Given the description of an element on the screen output the (x, y) to click on. 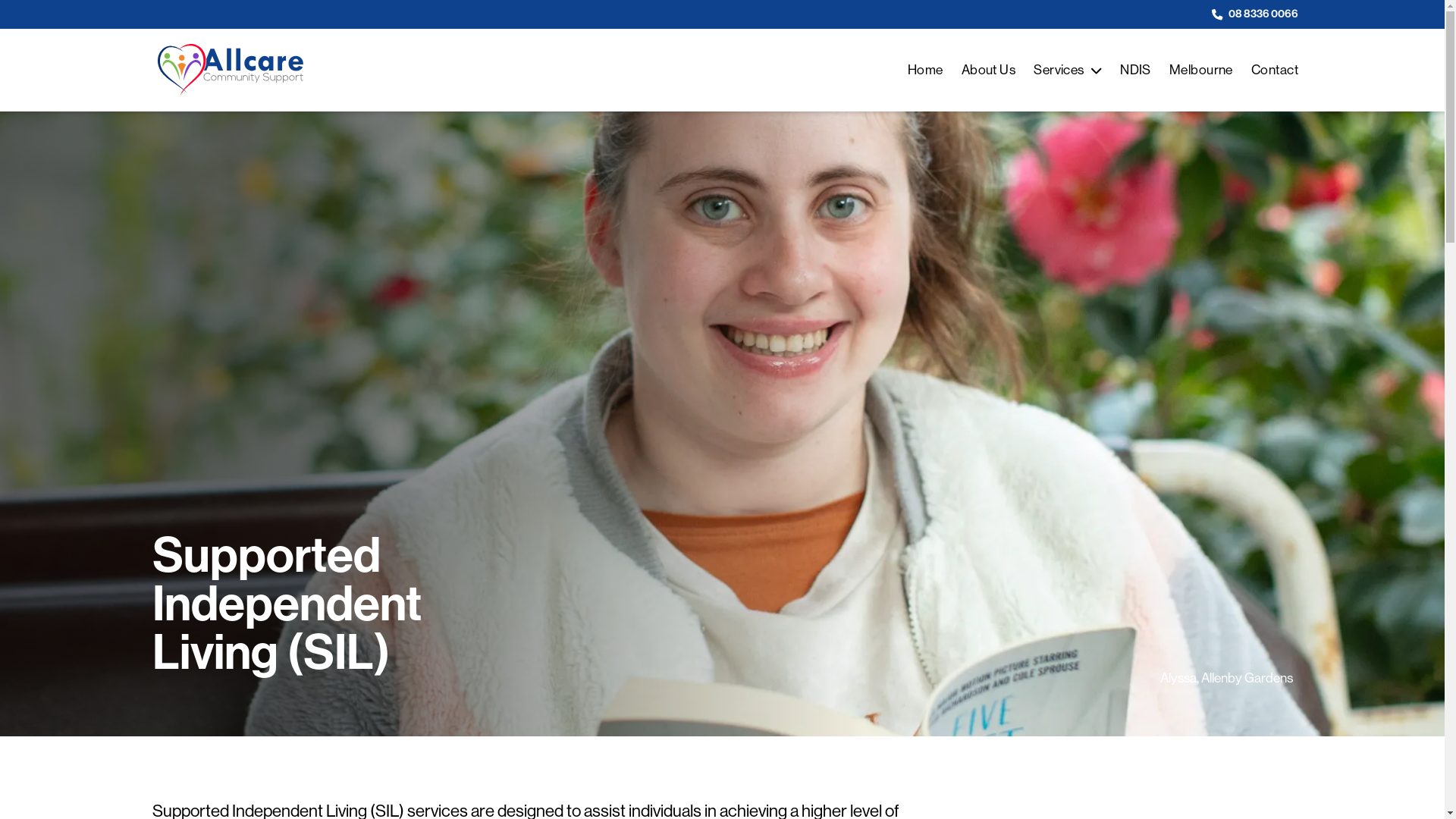
Melbourne Element type: text (1201, 69)
08 8336 0066 Element type: text (1254, 14)
Services Element type: text (1067, 69)
Contact Element type: text (1274, 69)
Home Element type: text (925, 69)
About Us Element type: text (988, 69)
NDIS Element type: text (1135, 69)
